Given the description of an element on the screen output the (x, y) to click on. 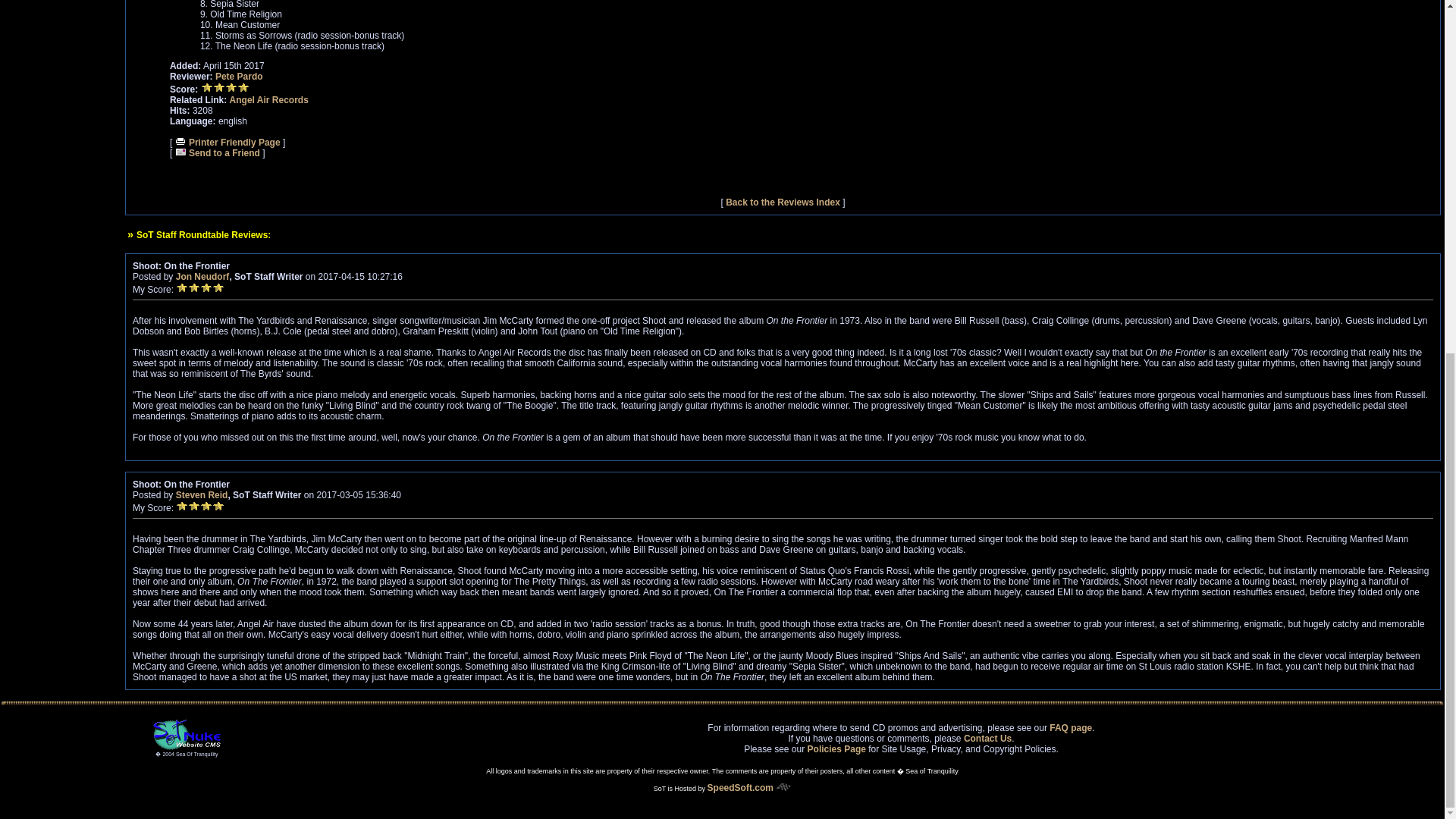
FAQ page (1070, 726)
Back to the Reviews Index (782, 202)
Jon Neudorf (203, 276)
Send to a Friend (217, 153)
Angel Air Records (269, 100)
Pete Pardo (239, 76)
Printer Friendly Page (227, 142)
Steven Reid (202, 494)
